Given the description of an element on the screen output the (x, y) to click on. 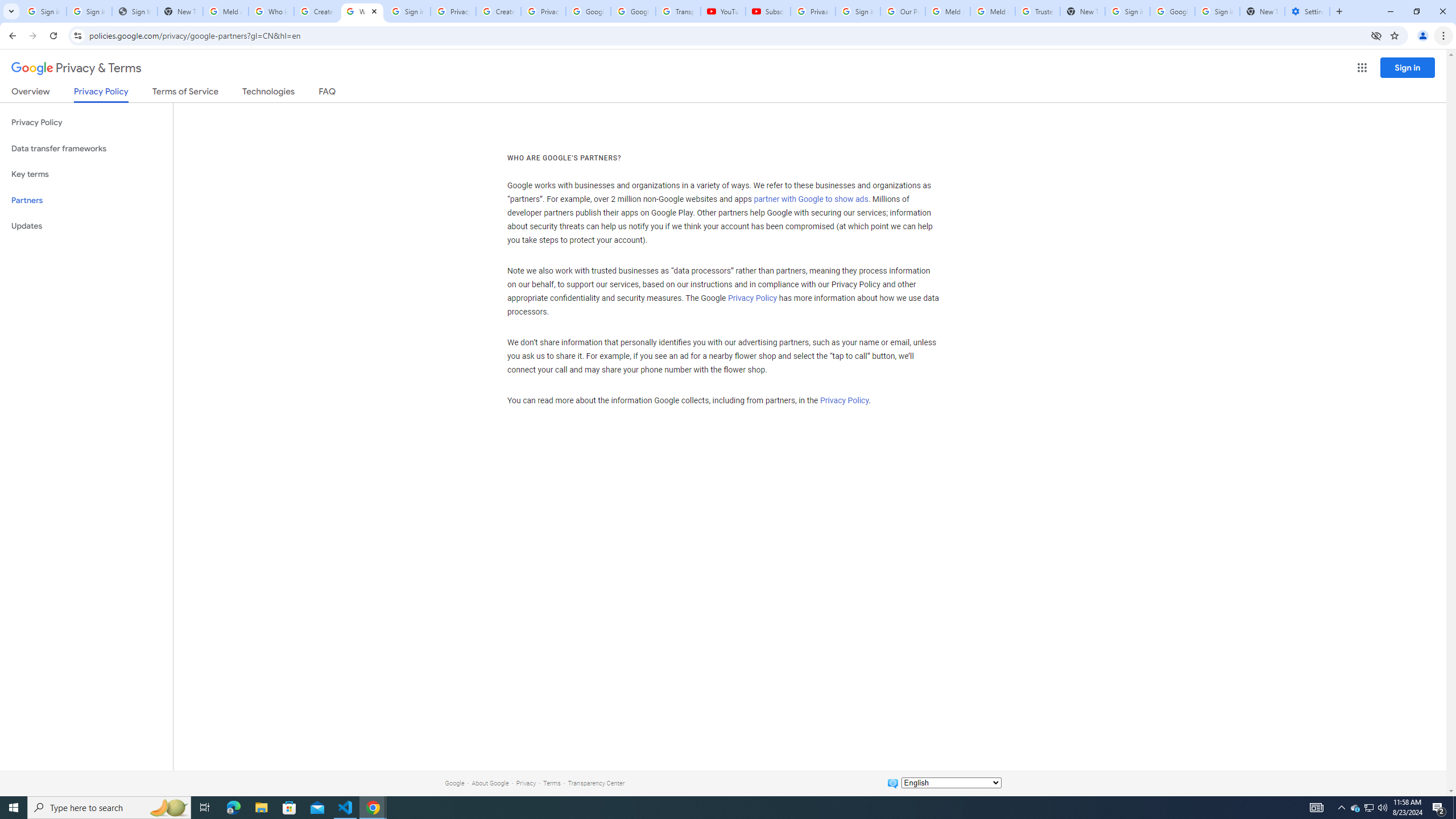
Sign in - Google Accounts (407, 11)
Sign in - Google Accounts (857, 11)
partner with Google to show ads (810, 199)
Google Account (633, 11)
Subscriptions - YouTube (767, 11)
